Given the description of an element on the screen output the (x, y) to click on. 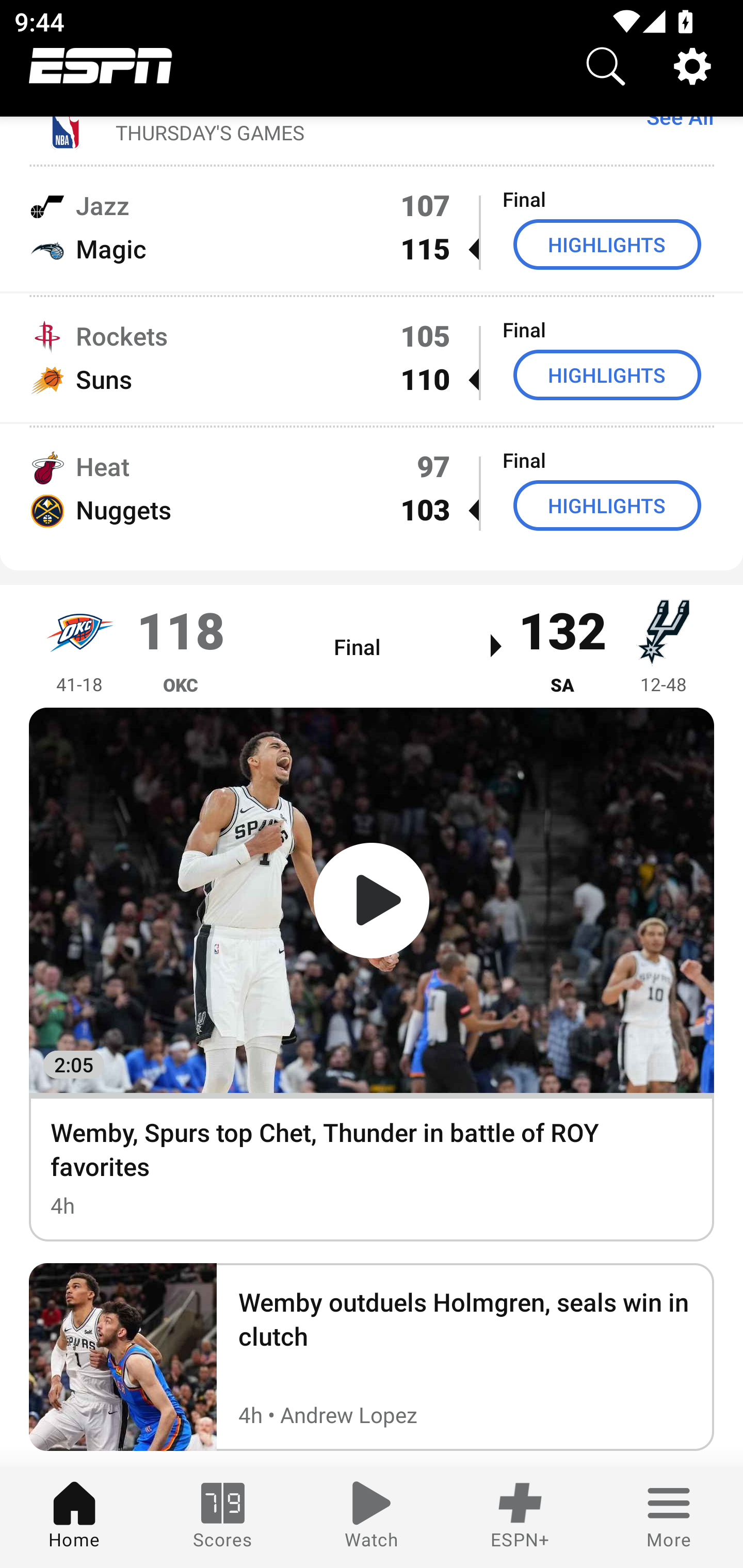
Search (605, 65)
Settings (692, 65)
Jazz 107 Final Magic 115  HIGHLIGHTS (371, 227)
HIGHLIGHTS (607, 244)
Rockets 105 Final Suns 110  HIGHLIGHTS (371, 357)
HIGHLIGHTS (607, 374)
Heat 97 Final Nuggets 103  HIGHLIGHTS (371, 487)
HIGHLIGHTS (607, 504)
Scores (222, 1517)
Watch (371, 1517)
ESPN+ (519, 1517)
More (668, 1517)
